Given the description of an element on the screen output the (x, y) to click on. 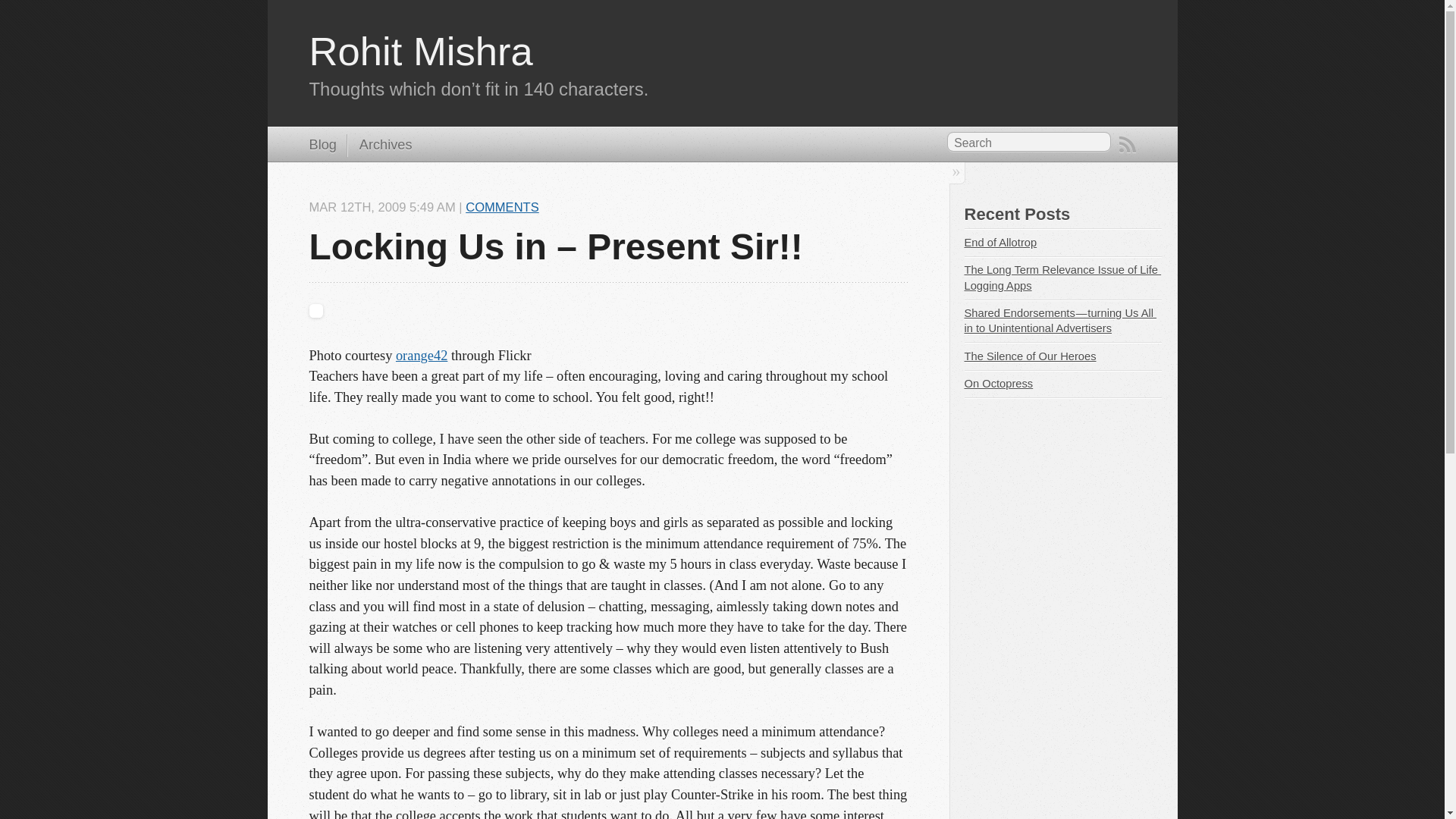
Rohit Mishra (420, 50)
Archives (379, 146)
COMMENTS (501, 206)
orange42 (421, 354)
Blog (322, 146)
